Given the description of an element on the screen output the (x, y) to click on. 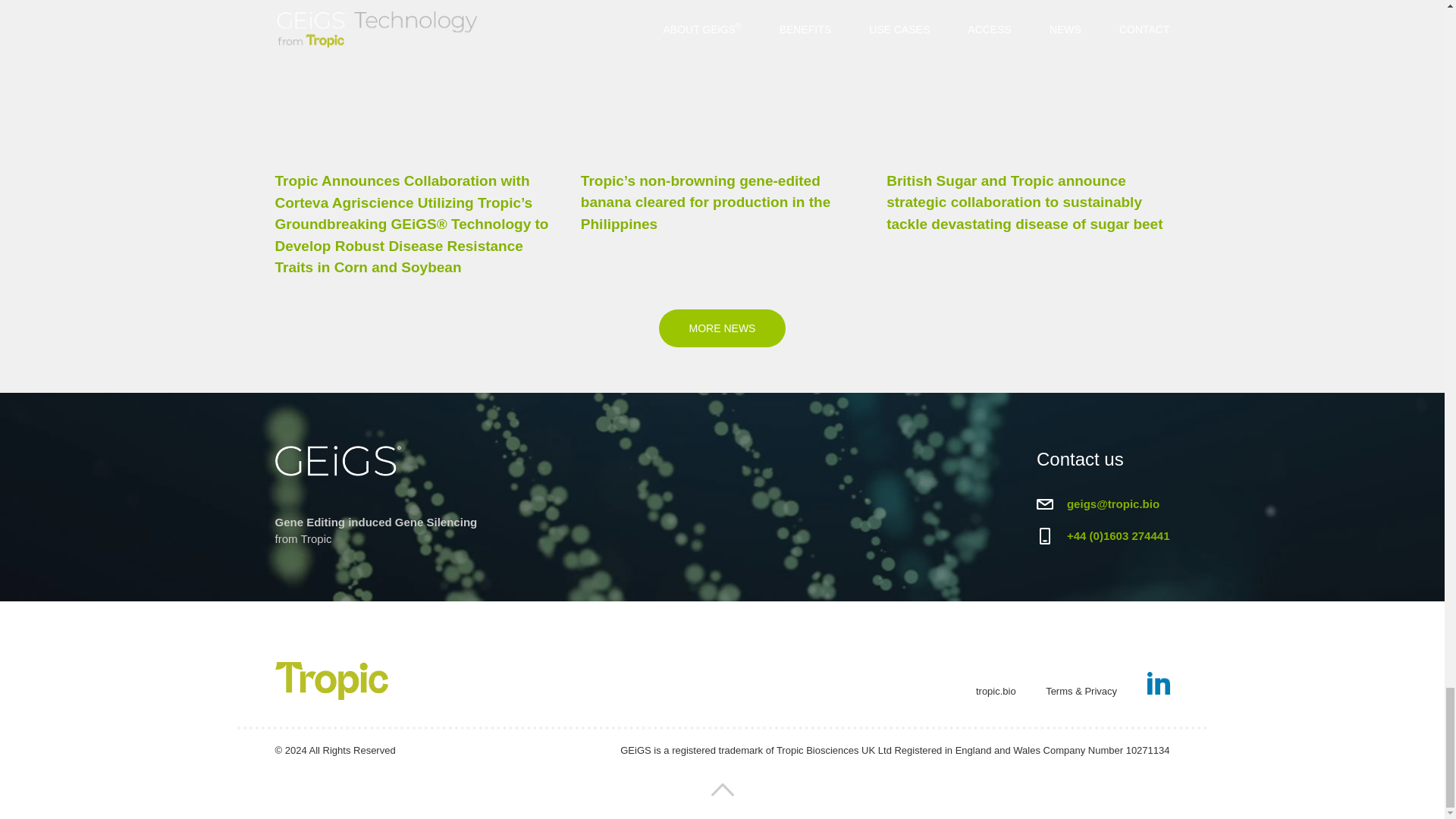
Go to top (722, 793)
